Given the description of an element on the screen output the (x, y) to click on. 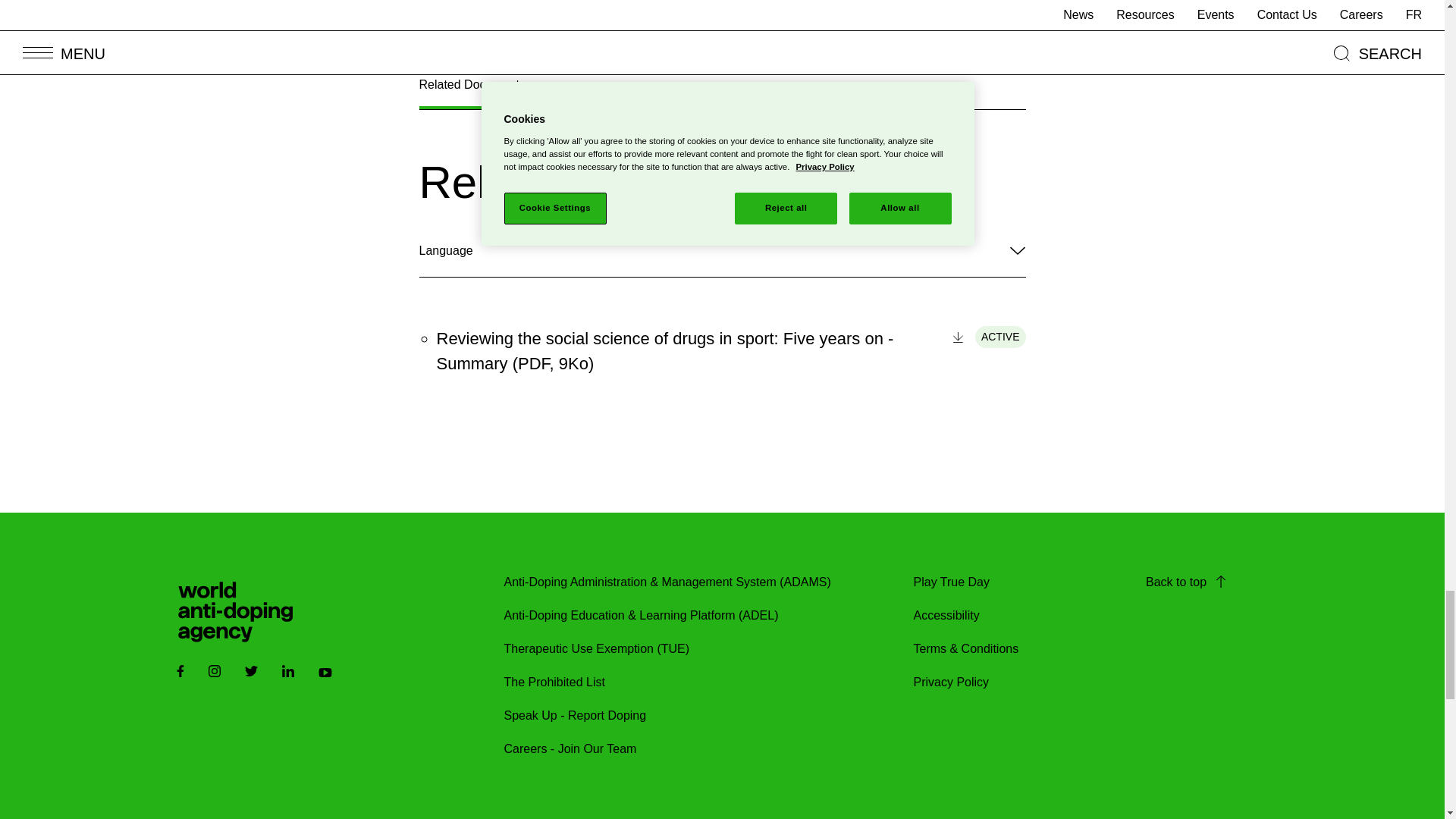
Speak Up - Report Doping (574, 716)
Careers - Join Our Team (569, 749)
The Prohibited List (553, 682)
Accessibility  (945, 616)
Play True Day (950, 582)
Privacy Policy (950, 682)
